Given the description of an element on the screen output the (x, y) to click on. 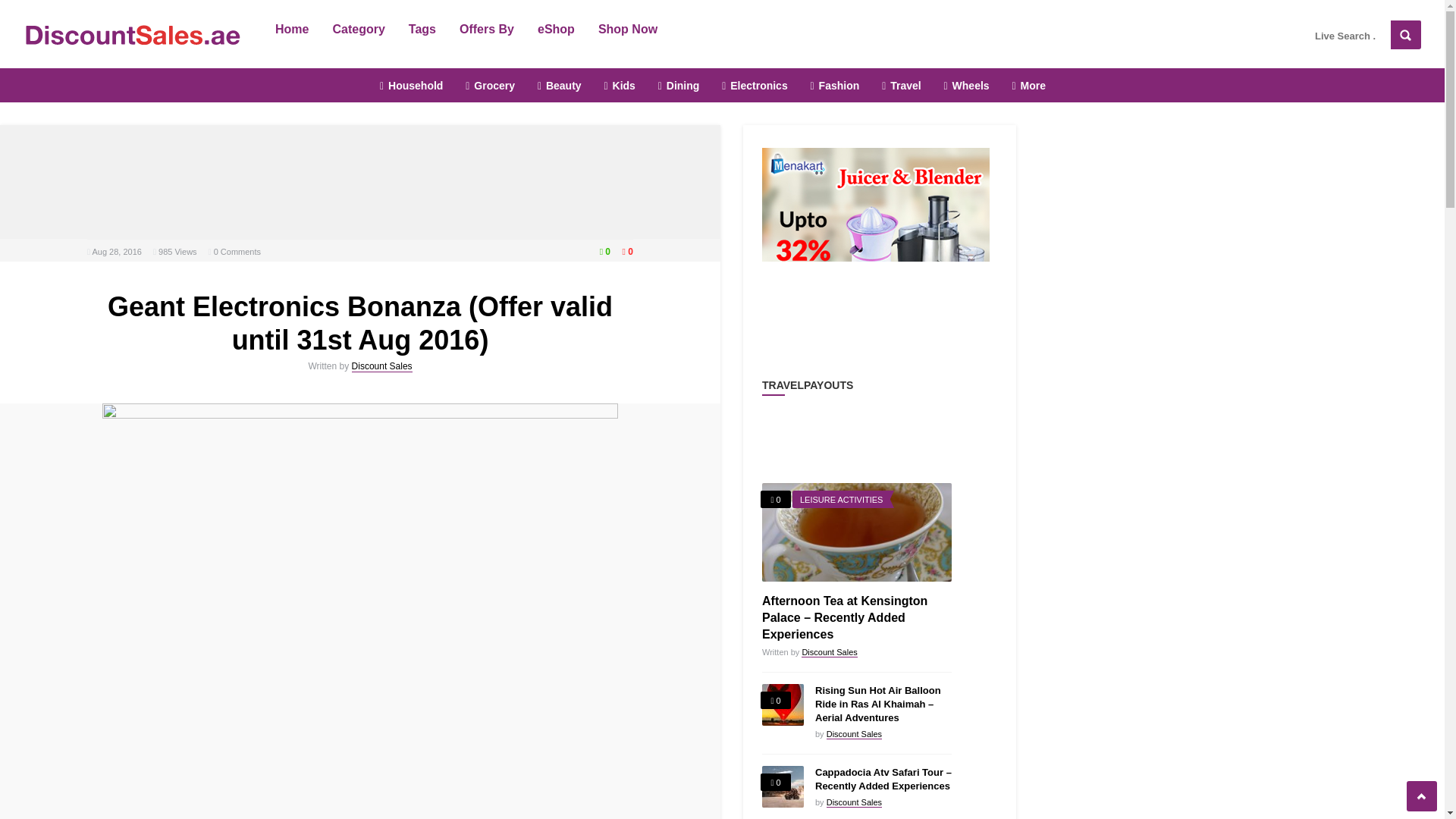
Home (291, 28)
Tags (422, 28)
Search (1405, 34)
Category (358, 28)
Offers By (485, 28)
Posts by Discount Sales (382, 366)
